Given the description of an element on the screen output the (x, y) to click on. 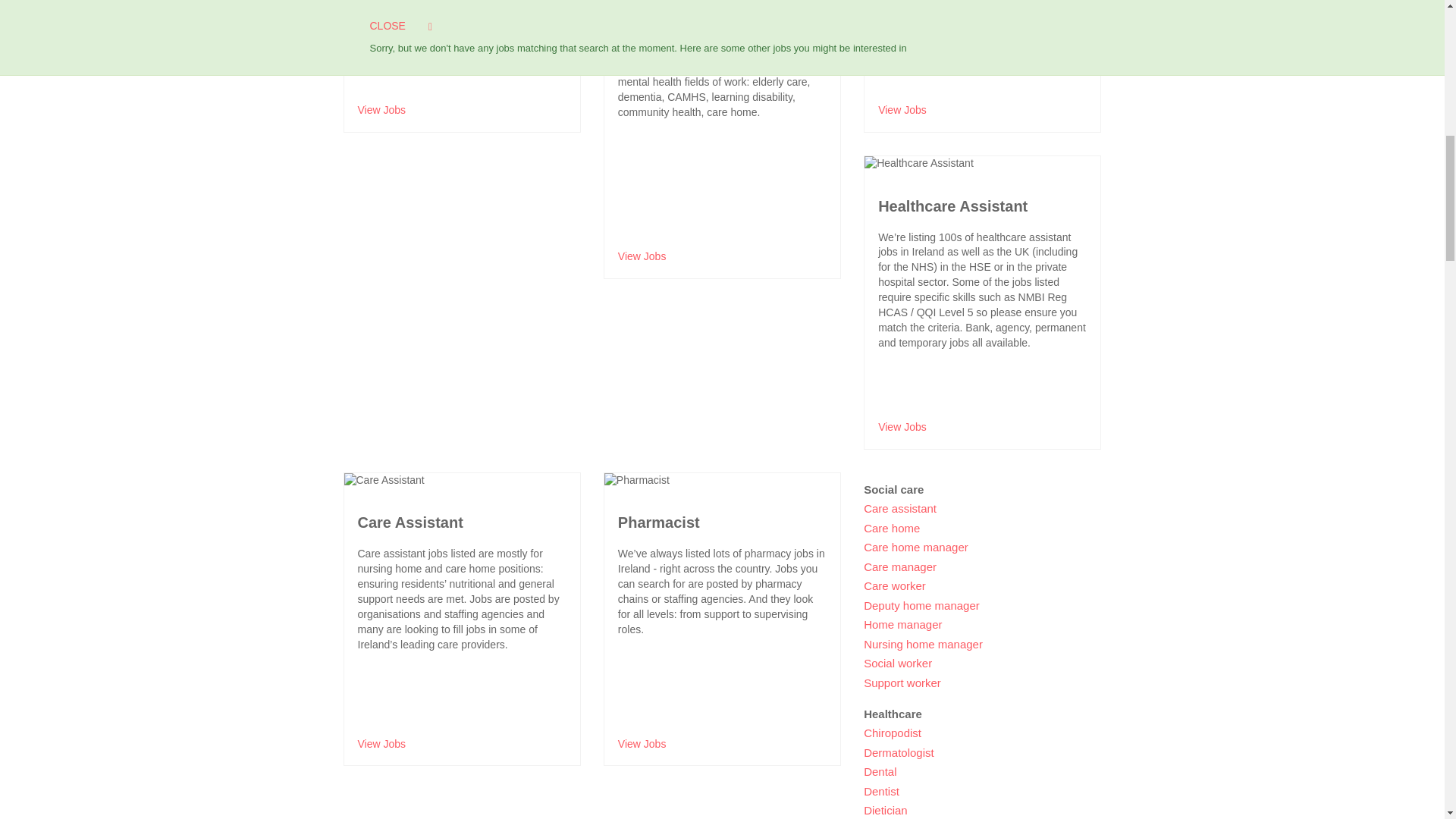
Pharmacist (636, 480)
Care Assistant (384, 480)
Healthcare Assistant (919, 163)
